Given the description of an element on the screen output the (x, y) to click on. 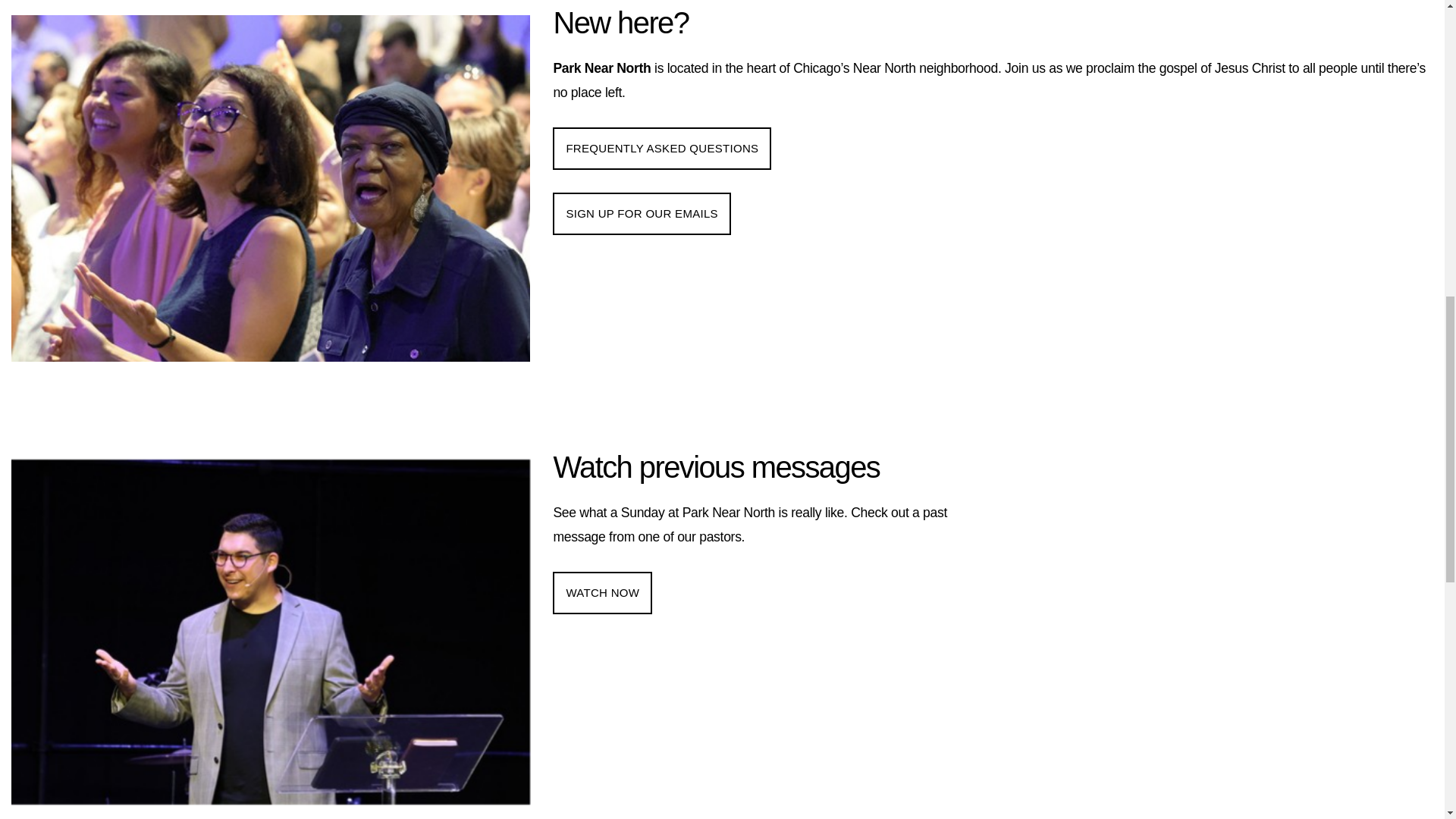
WATCH NOW (602, 592)
FREQUENTLY ASKED QUESTIONS (662, 148)
SIGN UP FOR OUR EMAILS (641, 213)
